Given the description of an element on the screen output the (x, y) to click on. 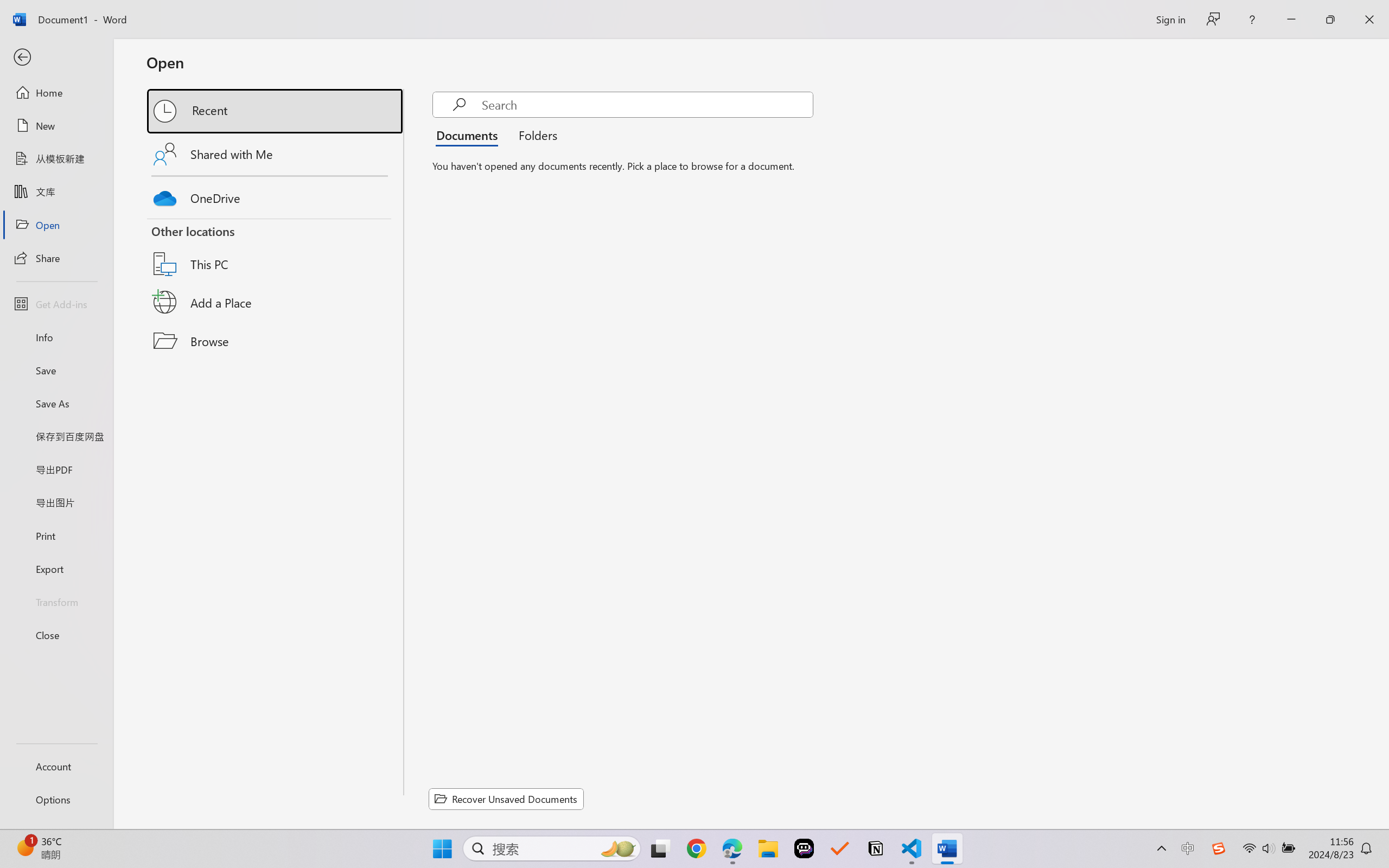
Account (56, 765)
Export (56, 568)
Options (56, 798)
OneDrive (275, 195)
Save As (56, 403)
Shared with Me (275, 153)
